Given the description of an element on the screen output the (x, y) to click on. 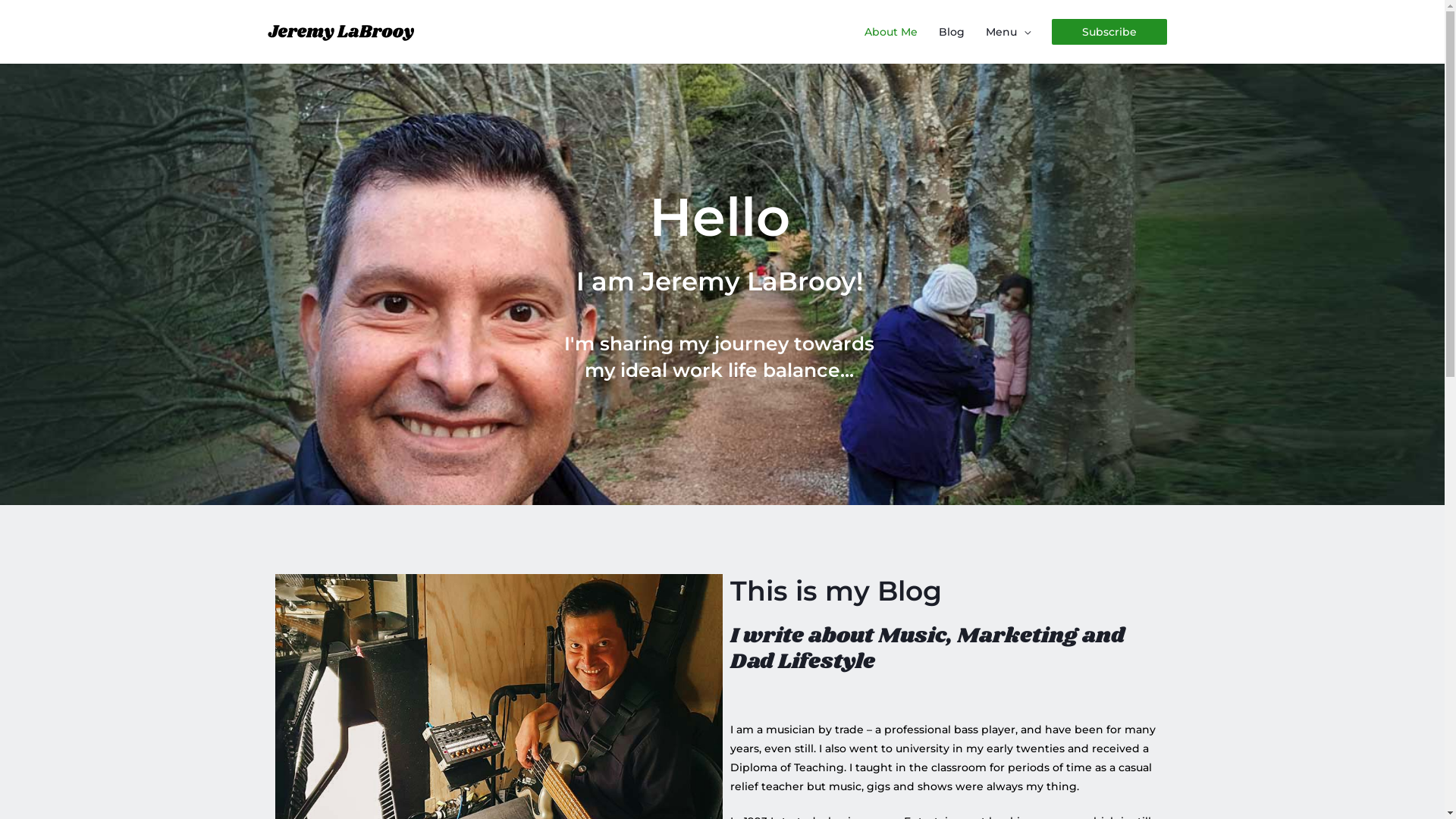
About Me Element type: text (890, 31)
Menu Element type: text (1008, 31)
Blog Element type: text (951, 31)
Subscribe Element type: text (1108, 31)
